Given the description of an element on the screen output the (x, y) to click on. 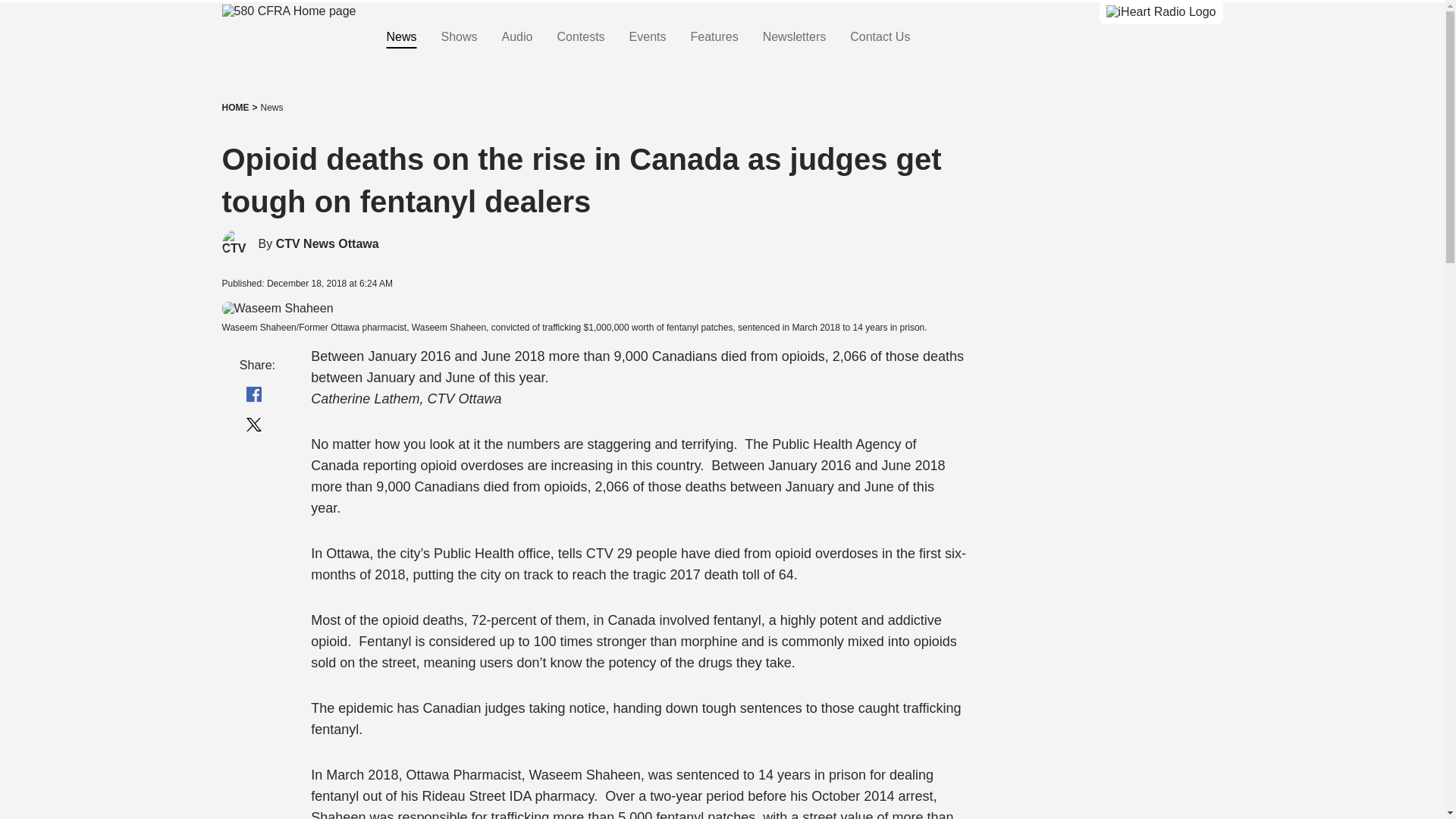
Features (714, 37)
CTV News Ottawa (236, 244)
CTV News Ottawa (327, 243)
HOME (234, 107)
Contact Us (880, 37)
Newsletters (794, 37)
News (271, 107)
CTV News Ottawa (327, 243)
Contests (580, 37)
